Given the description of an element on the screen output the (x, y) to click on. 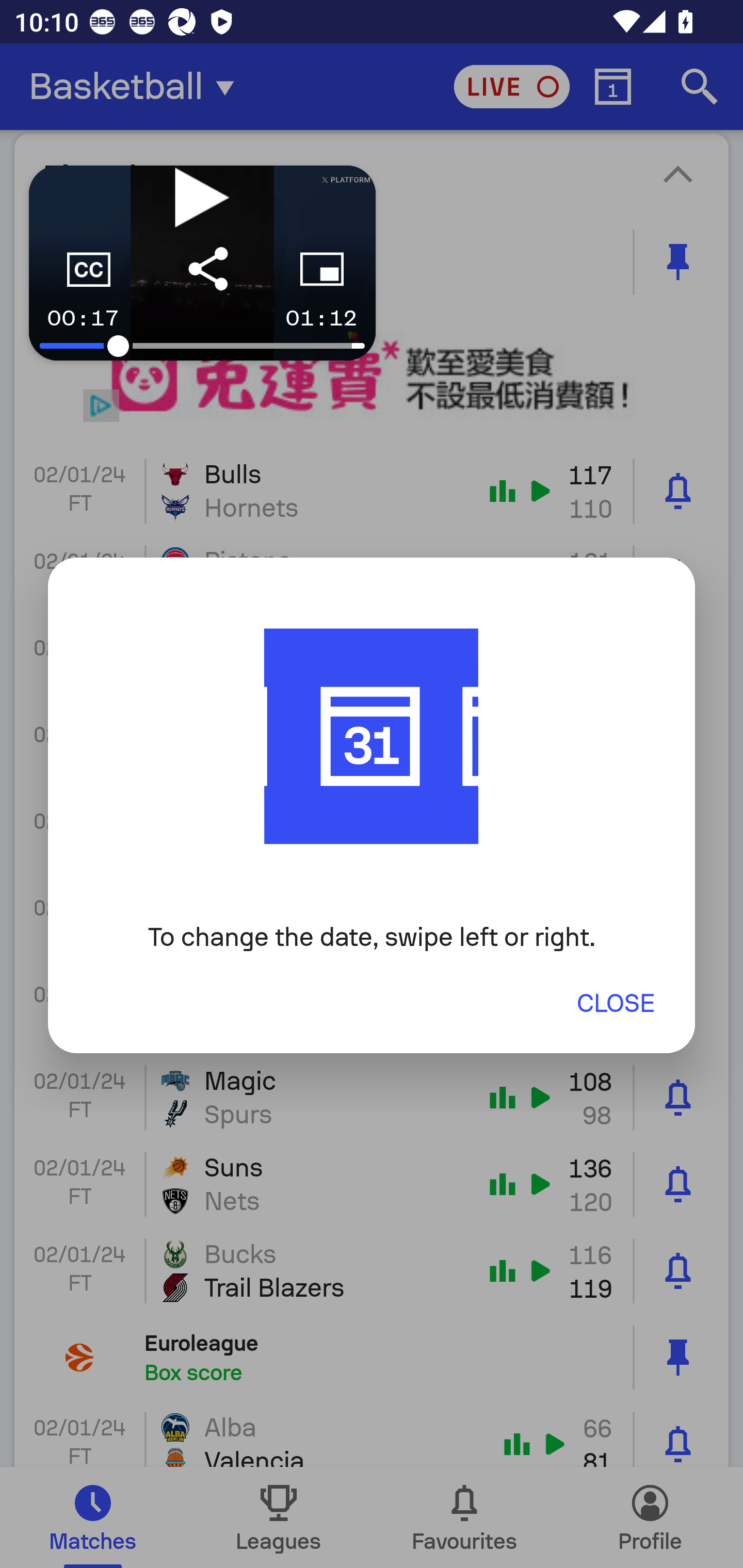
CLOSE (615, 1002)
